Given the description of an element on the screen output the (x, y) to click on. 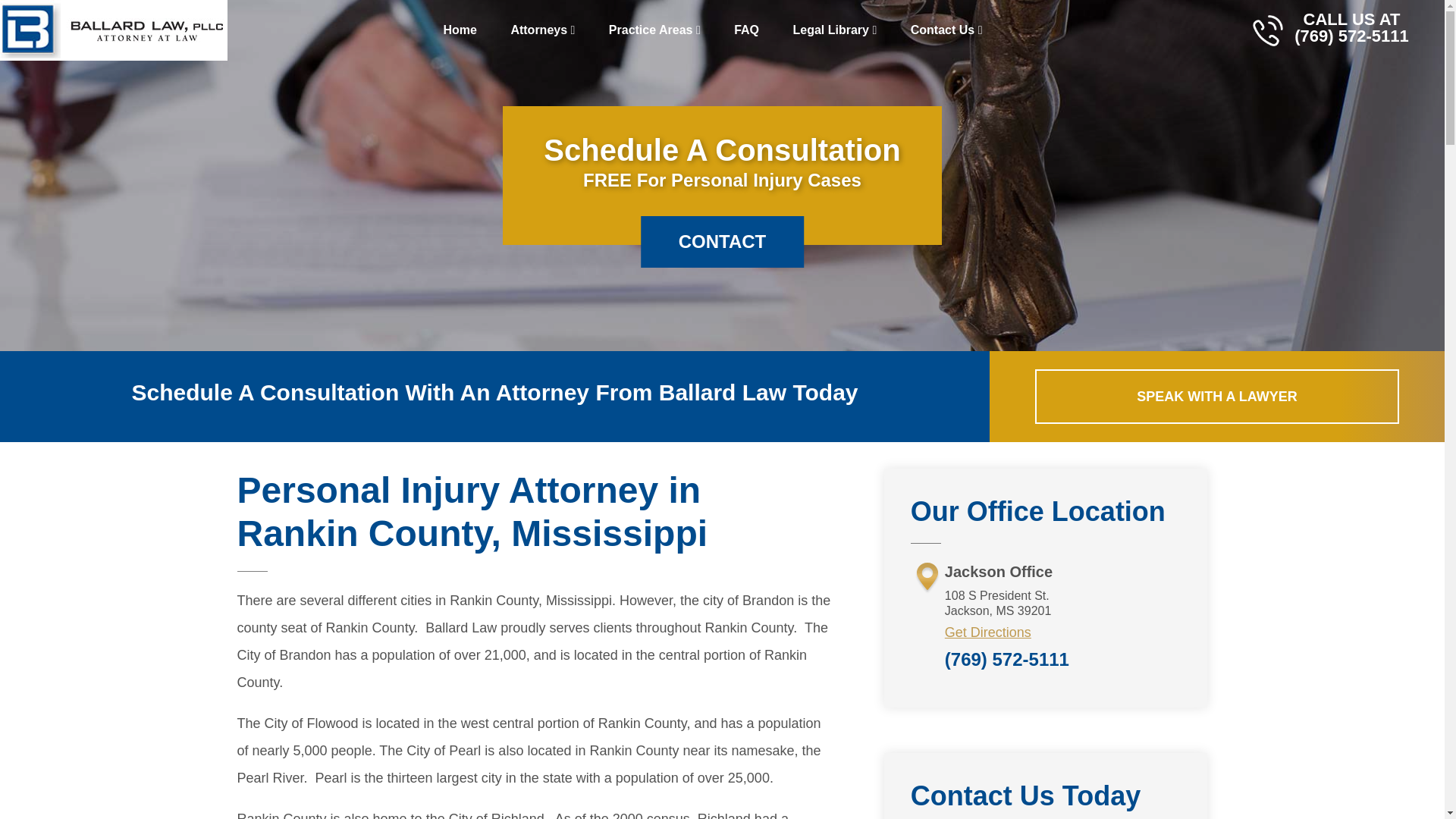
Legal Library (834, 30)
FAQ (746, 30)
Practice Areas (655, 30)
Attorneys (542, 30)
Home (460, 30)
Contact Us (946, 30)
Ballard Law, PLLC (113, 30)
